Given the description of an element on the screen output the (x, y) to click on. 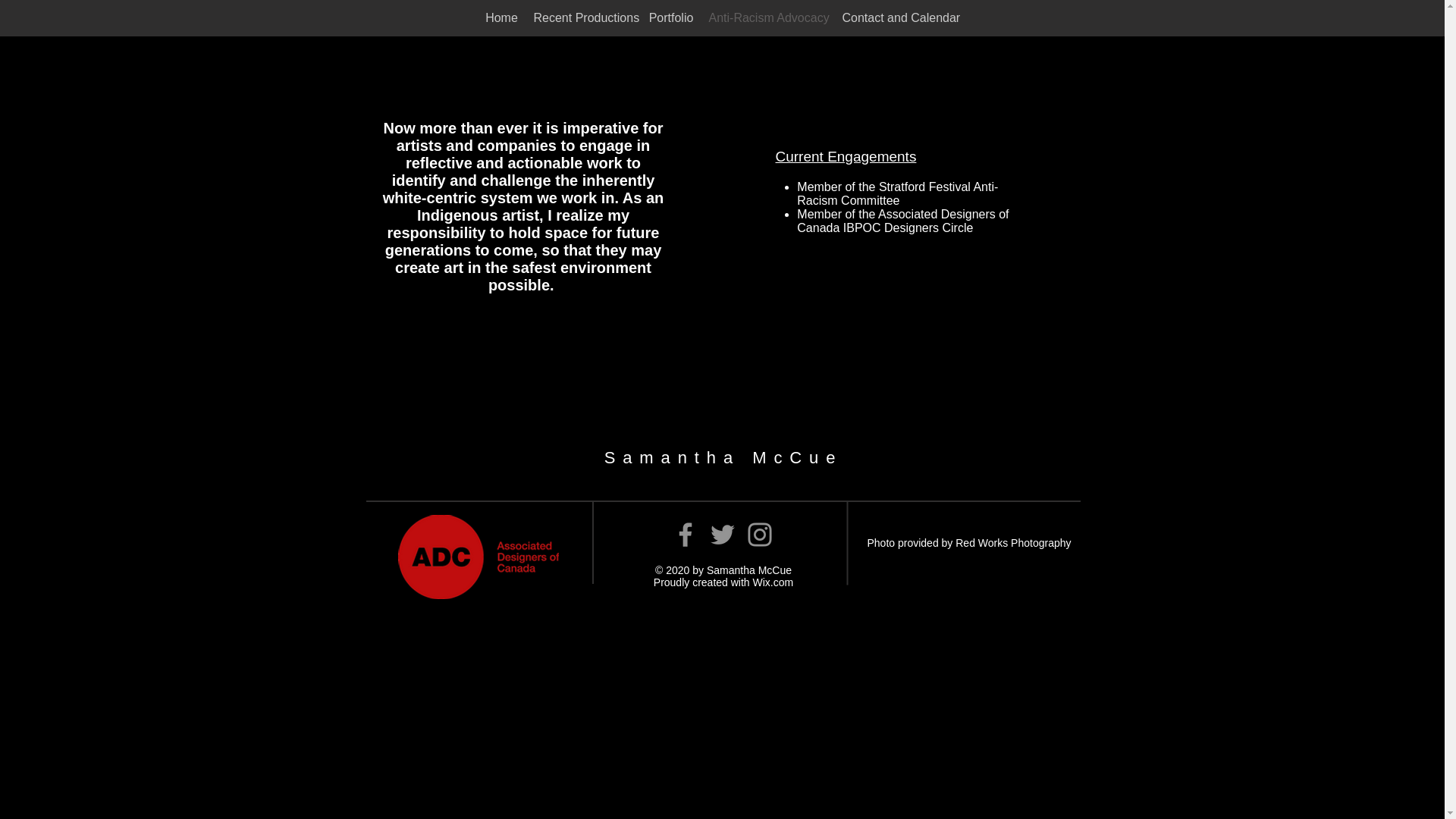
Anti-Racism Advocacy (767, 18)
Home (501, 18)
Contact and Calendar (900, 18)
Recent Productions (583, 18)
Wix.com (772, 582)
Portfolio (671, 18)
Samantha McCue (723, 456)
